Given the description of an element on the screen output the (x, y) to click on. 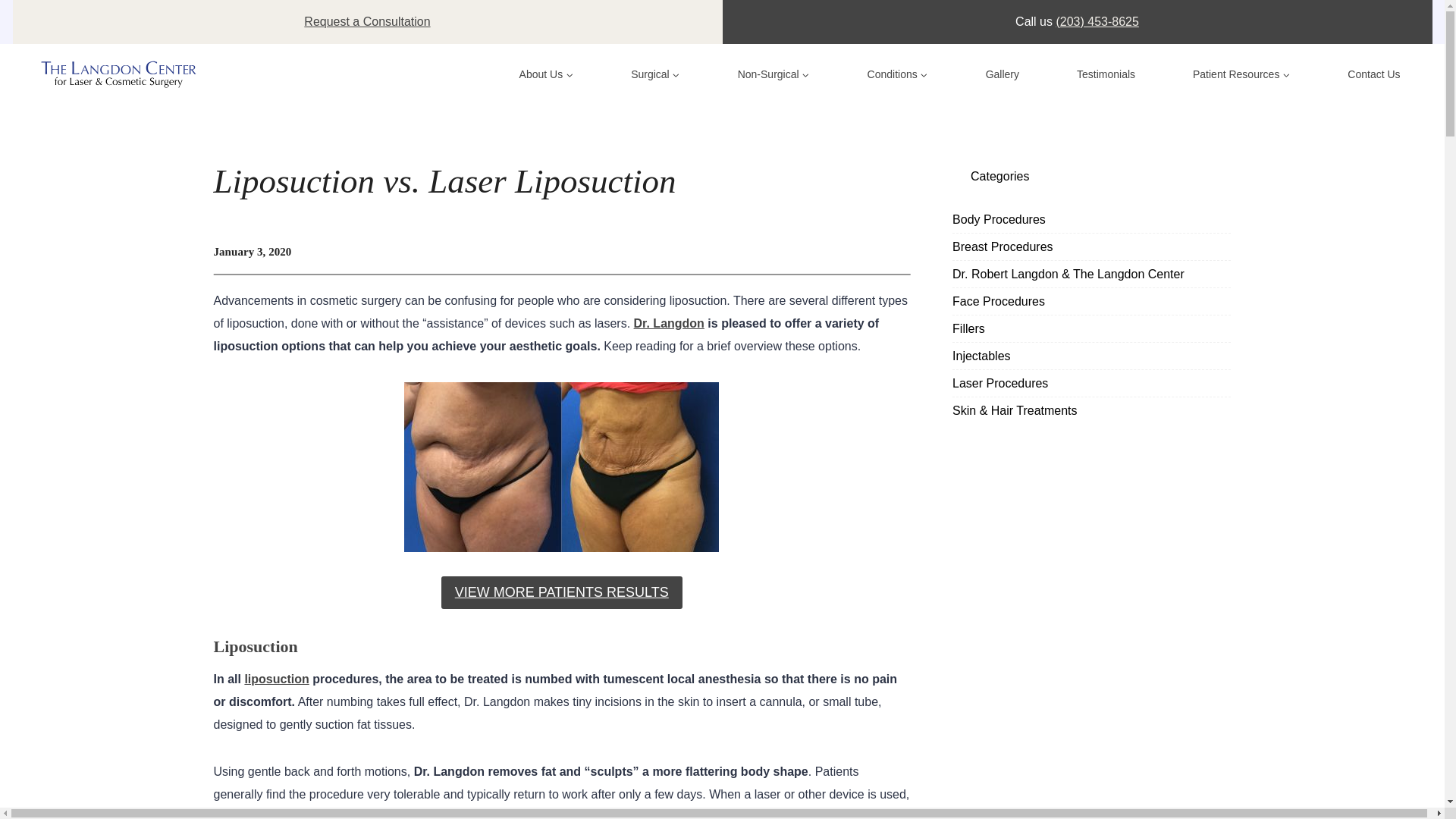
Request a Consultation (366, 21)
About Us (545, 74)
Non-Surgical (772, 74)
Surgical (654, 74)
